Given the description of an element on the screen output the (x, y) to click on. 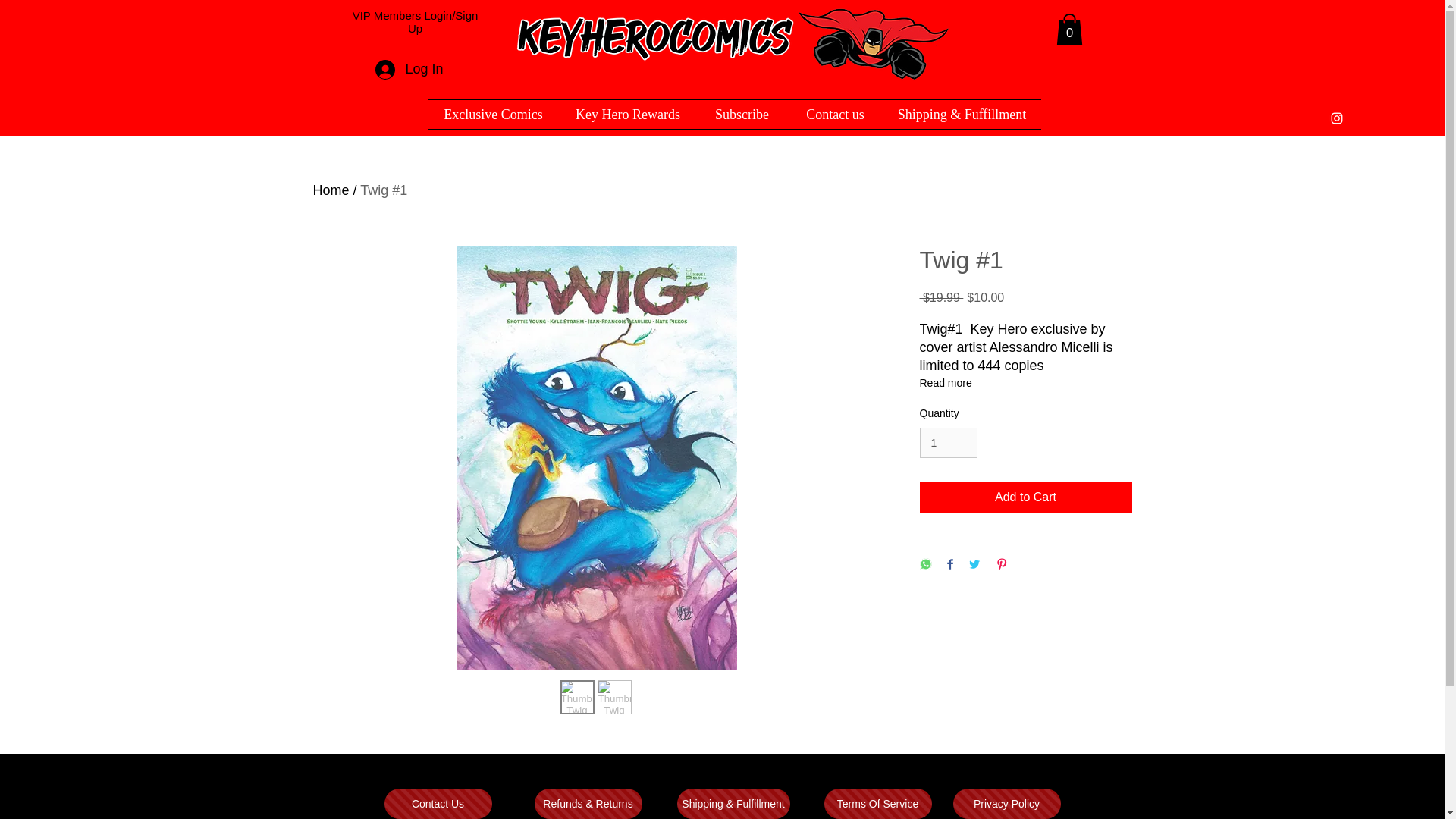
Contact us (834, 113)
Add to Cart (1024, 497)
Terms Of Service (877, 803)
Exclusive Comics (493, 113)
Privacy Policy (1005, 803)
1 (947, 442)
Home (331, 190)
Subscribe (741, 113)
Key Hero Rewards (628, 113)
Contact Us (438, 803)
Log In (403, 69)
Read more (1024, 382)
